Given the description of an element on the screen output the (x, y) to click on. 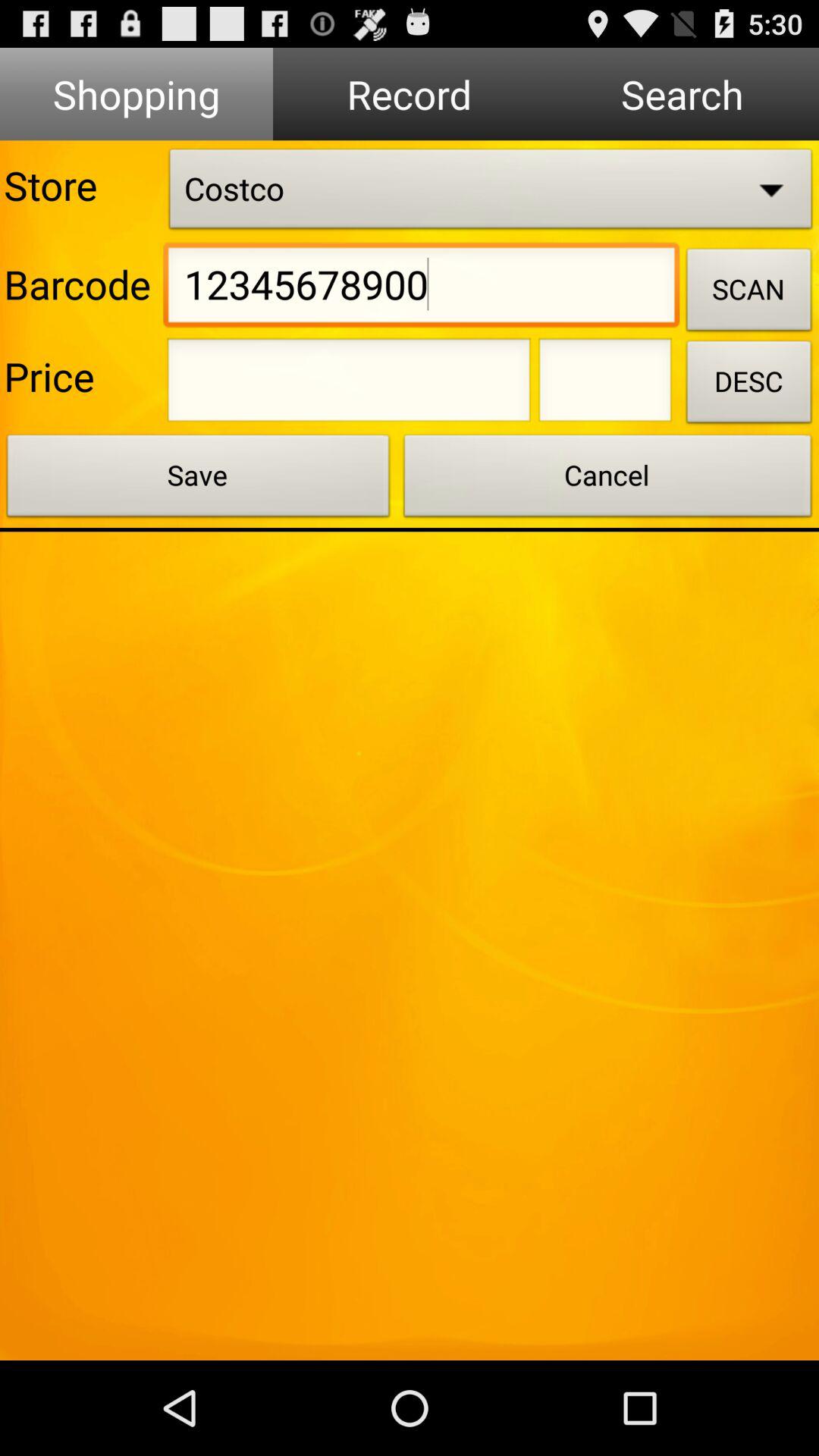
go to price (604, 384)
